Given the description of an element on the screen output the (x, y) to click on. 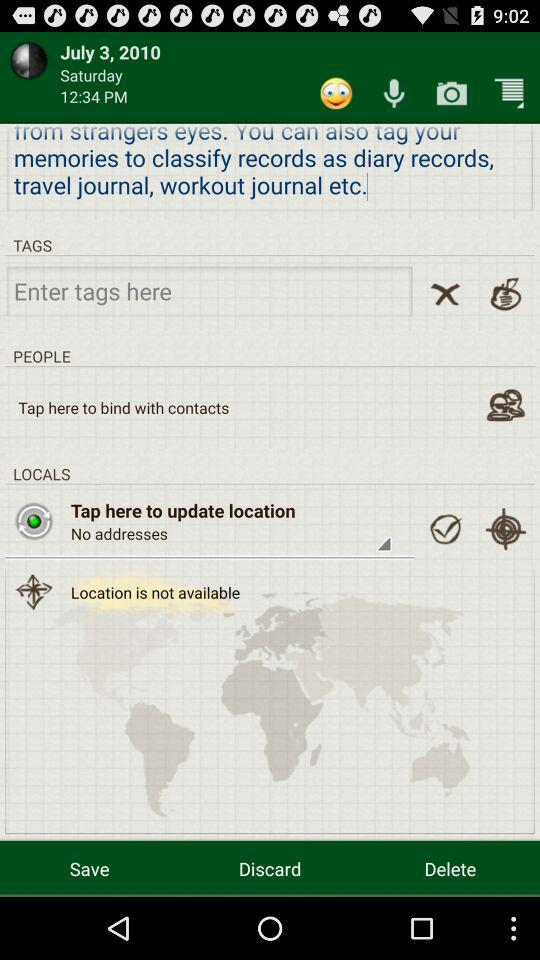
delete tags (445, 293)
